Given the description of an element on the screen output the (x, y) to click on. 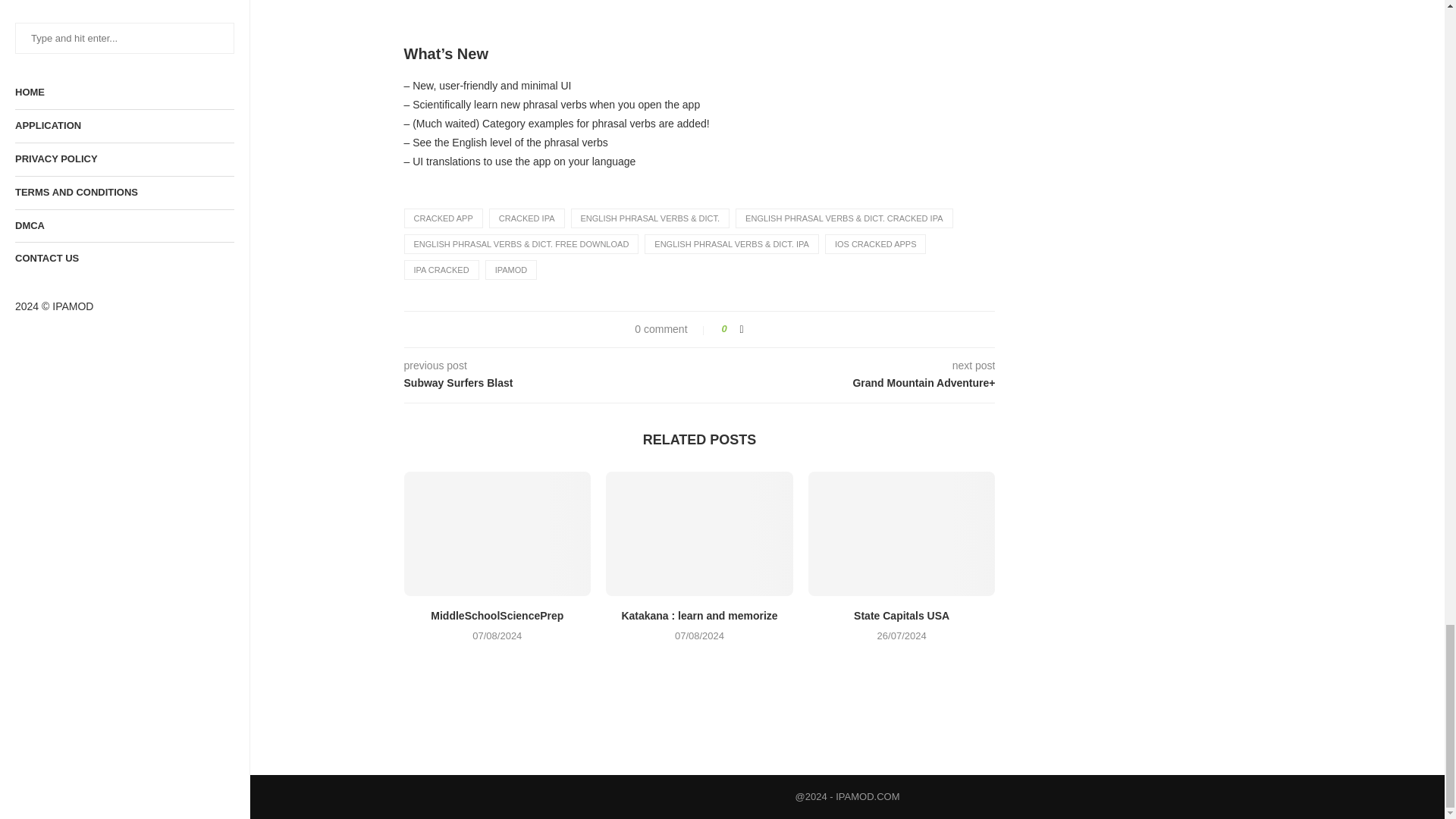
IOS CRACKED APPS (875, 243)
CRACKED APP (442, 218)
IPA CRACKED (441, 270)
Katakana : learn and memorize (699, 533)
CRACKED IPA (526, 218)
MiddleSchoolSciencePrep (497, 533)
IPAMOD (510, 270)
